Given the description of an element on the screen output the (x, y) to click on. 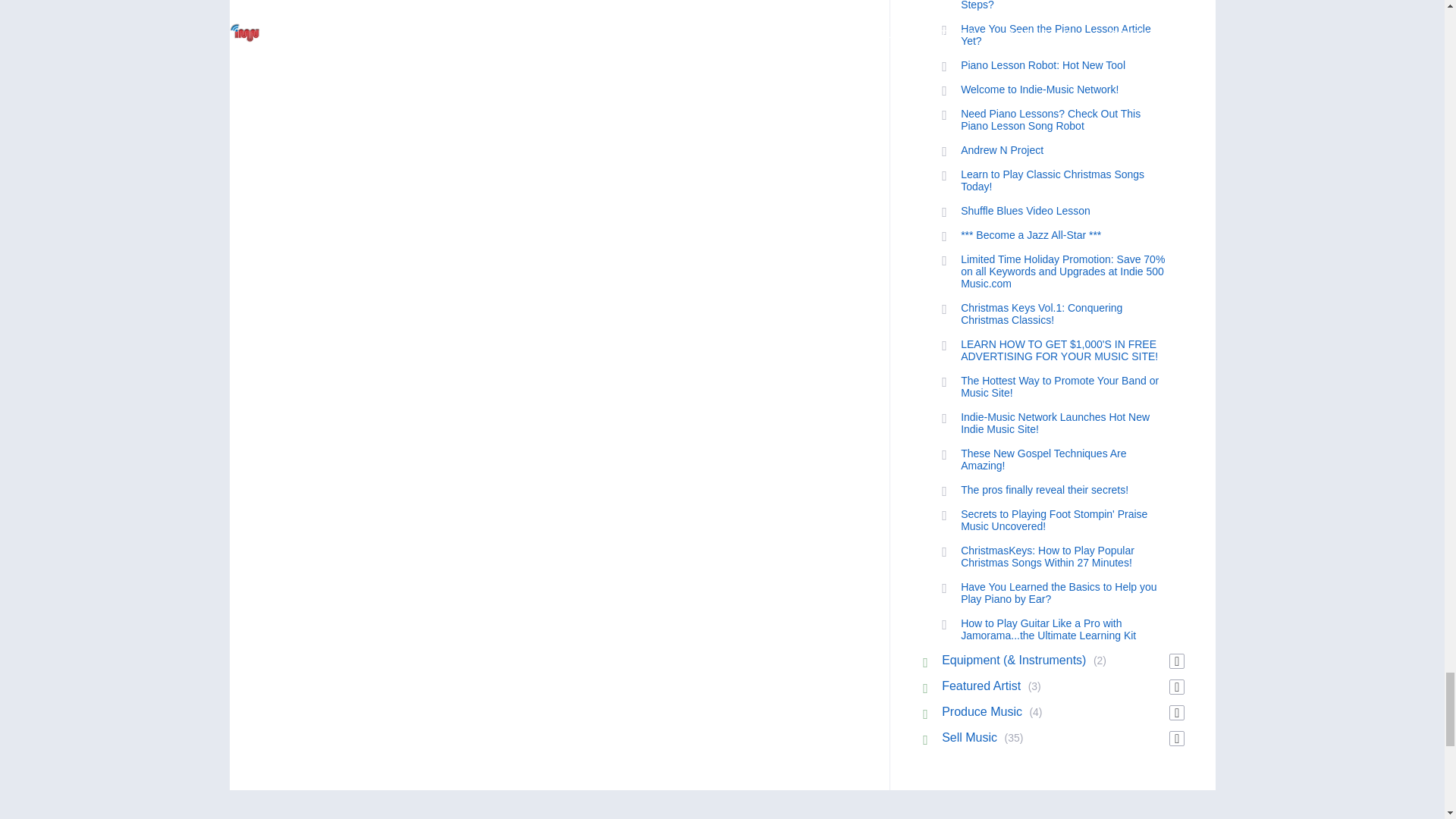
Expand submenu (1177, 661)
